Given the description of an element on the screen output the (x, y) to click on. 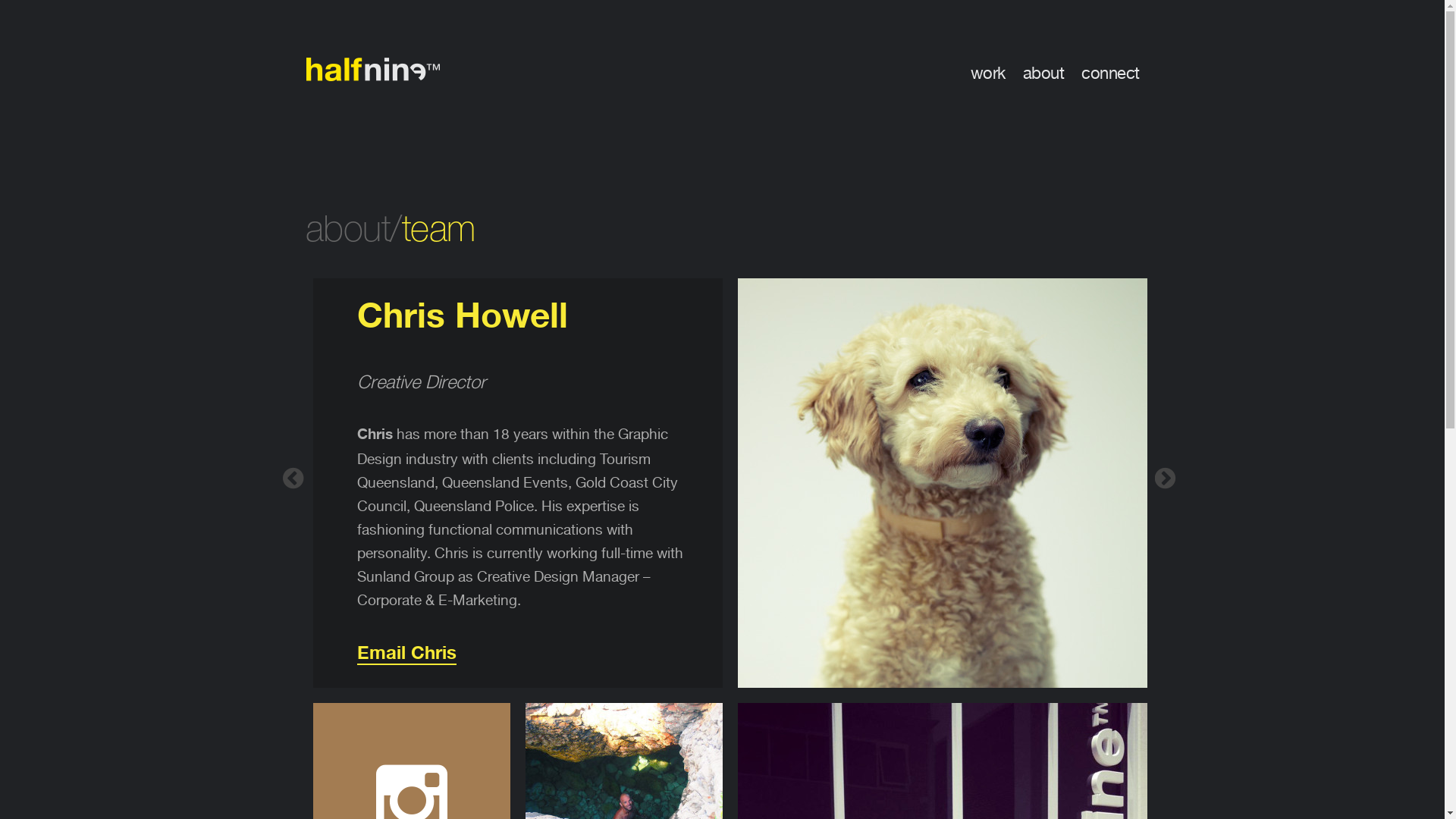
work Element type: text (987, 72)
Email Chris Element type: text (405, 654)
about/ Element type: text (352, 233)
team Element type: text (438, 233)
connect Element type: text (1110, 72)
about Element type: text (1042, 72)
Email Nicole Element type: text (410, 606)
